Given the description of an element on the screen output the (x, y) to click on. 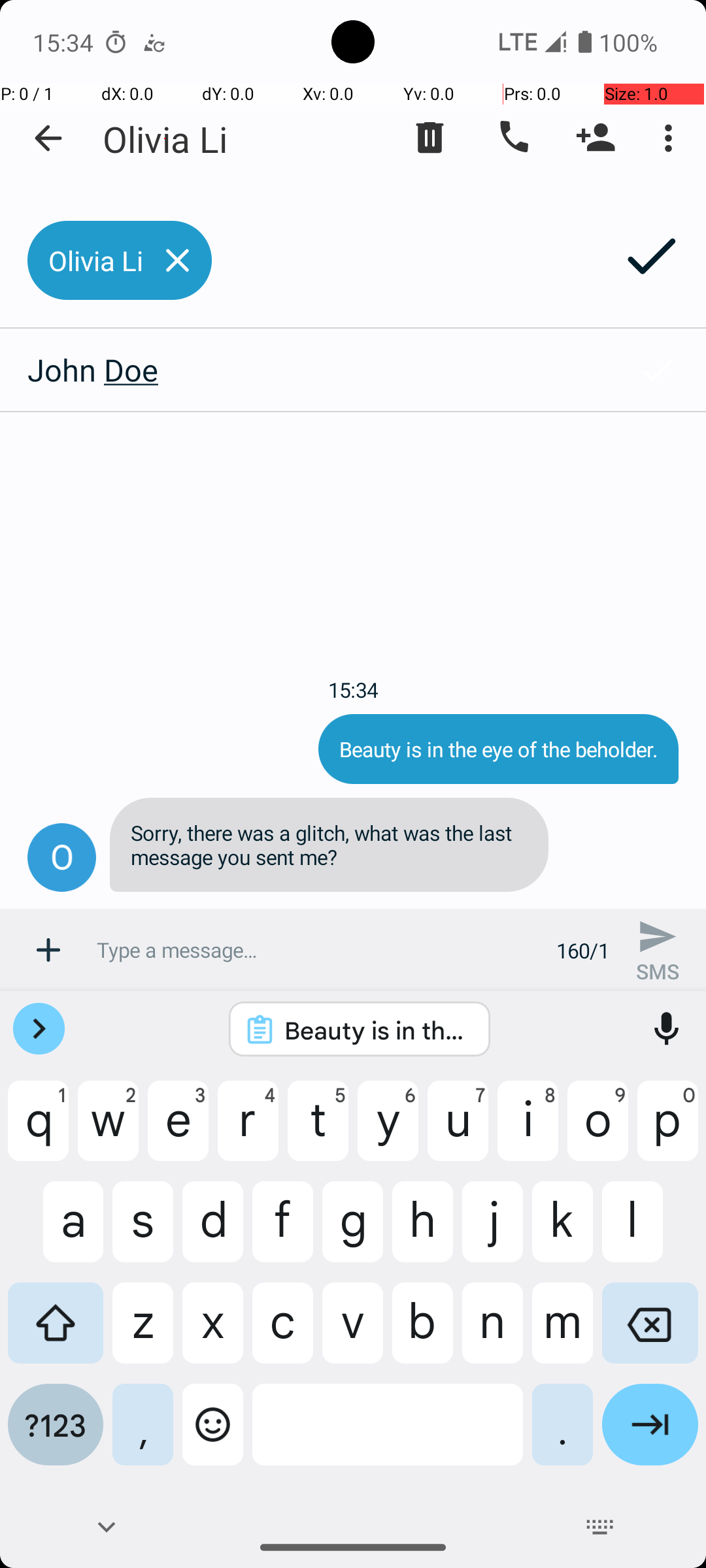
Olivia Li Element type: android.widget.TextView (164, 138)
John Doe Element type: android.widget.AutoCompleteTextView (304, 369)
Confirm selection Element type: android.widget.ImageView (657, 369)
